Given the description of an element on the screen output the (x, y) to click on. 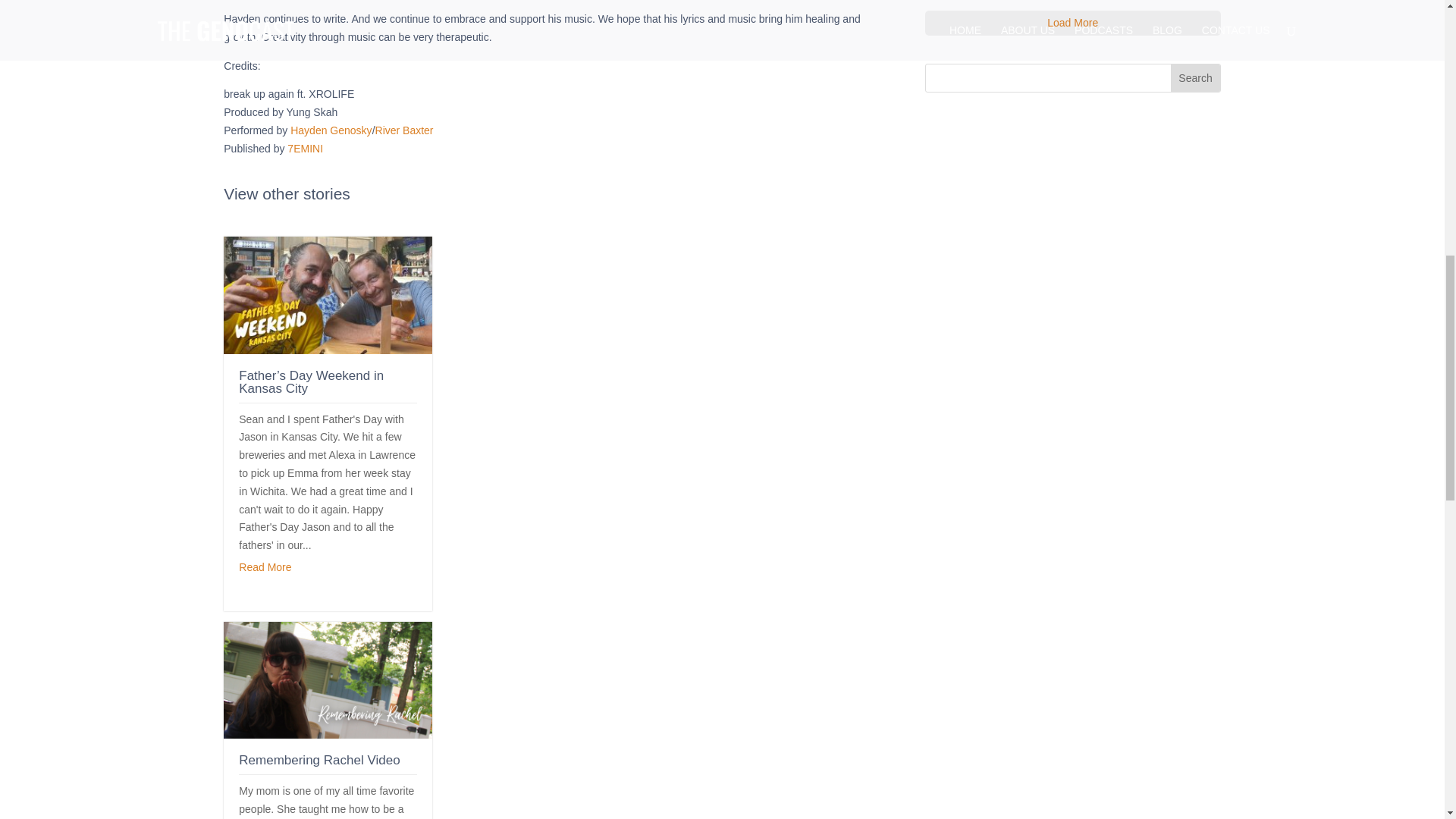
Hayden Genosky (330, 130)
Search (1195, 77)
Read More (264, 567)
Load More (1072, 23)
Search (1195, 77)
Remembering Rachel Video (318, 759)
7EMINI (304, 148)
River Baxter (404, 130)
Search (1195, 77)
